Given the description of an element on the screen output the (x, y) to click on. 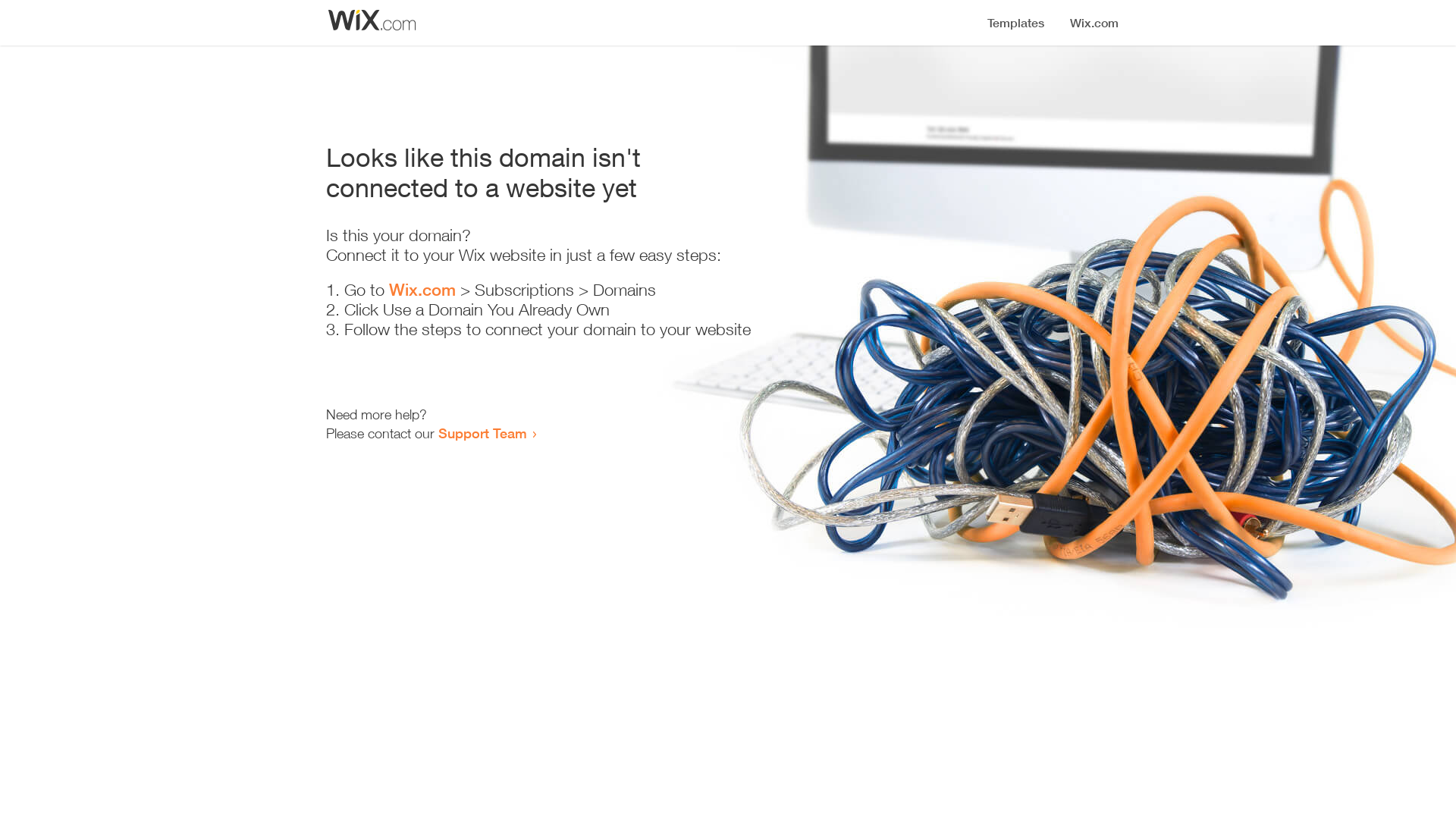
Support Team Element type: text (482, 432)
Wix.com Element type: text (422, 289)
